Given the description of an element on the screen output the (x, y) to click on. 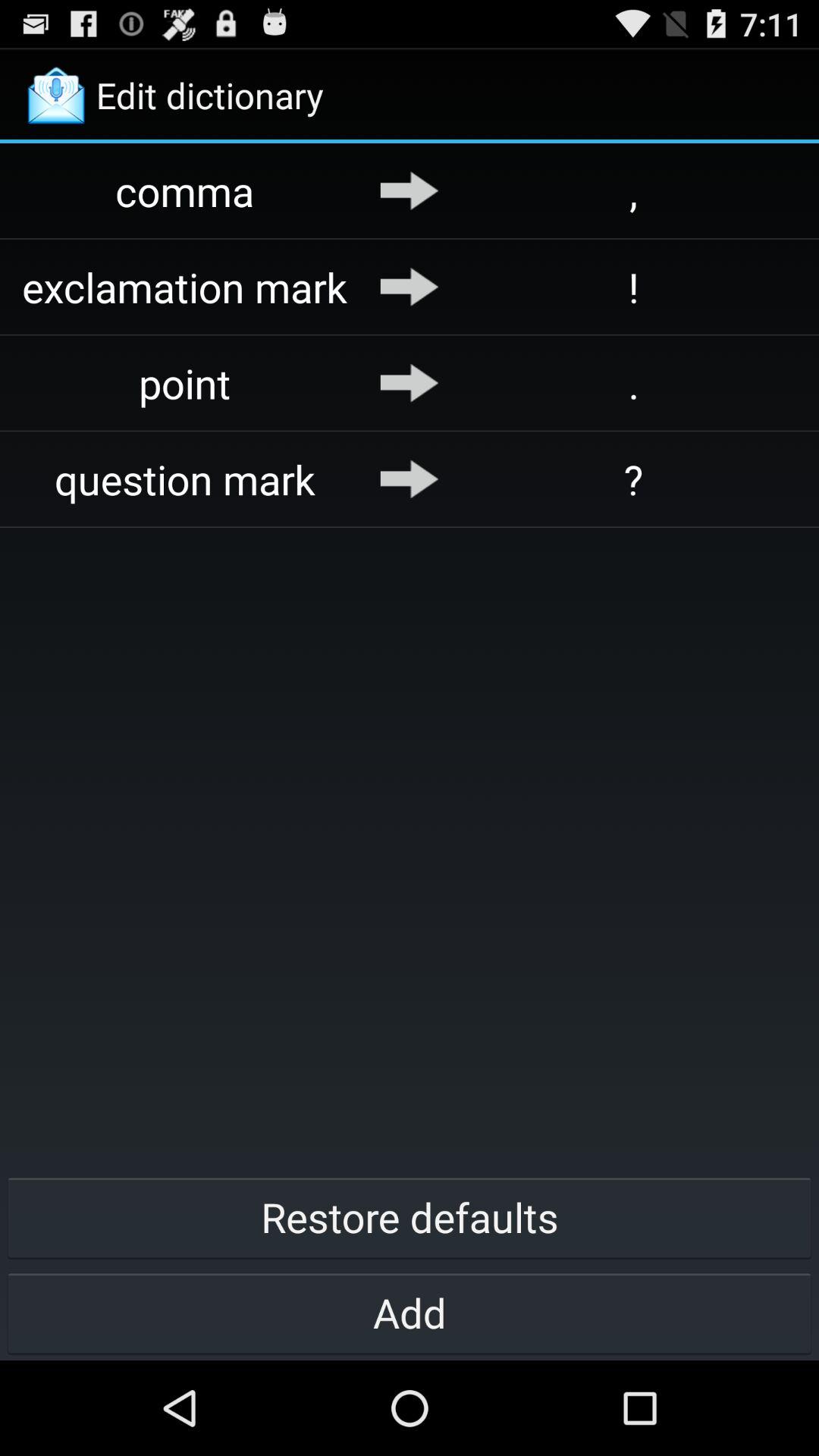
scroll until the add button (409, 1312)
